Given the description of an element on the screen output the (x, y) to click on. 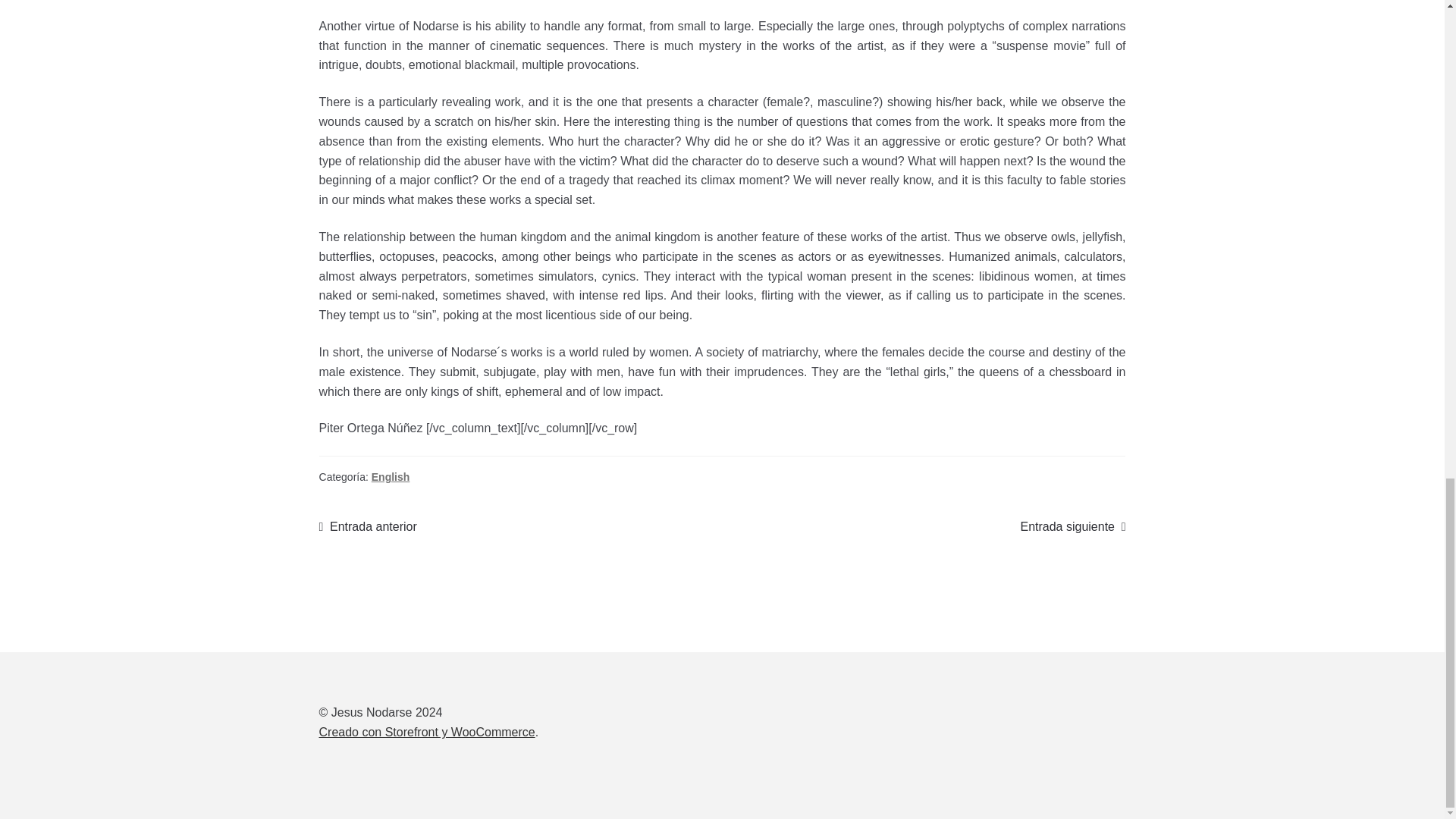
English (367, 526)
Creado con Storefront y WooCommerce (1072, 526)
